Given the description of an element on the screen output the (x, y) to click on. 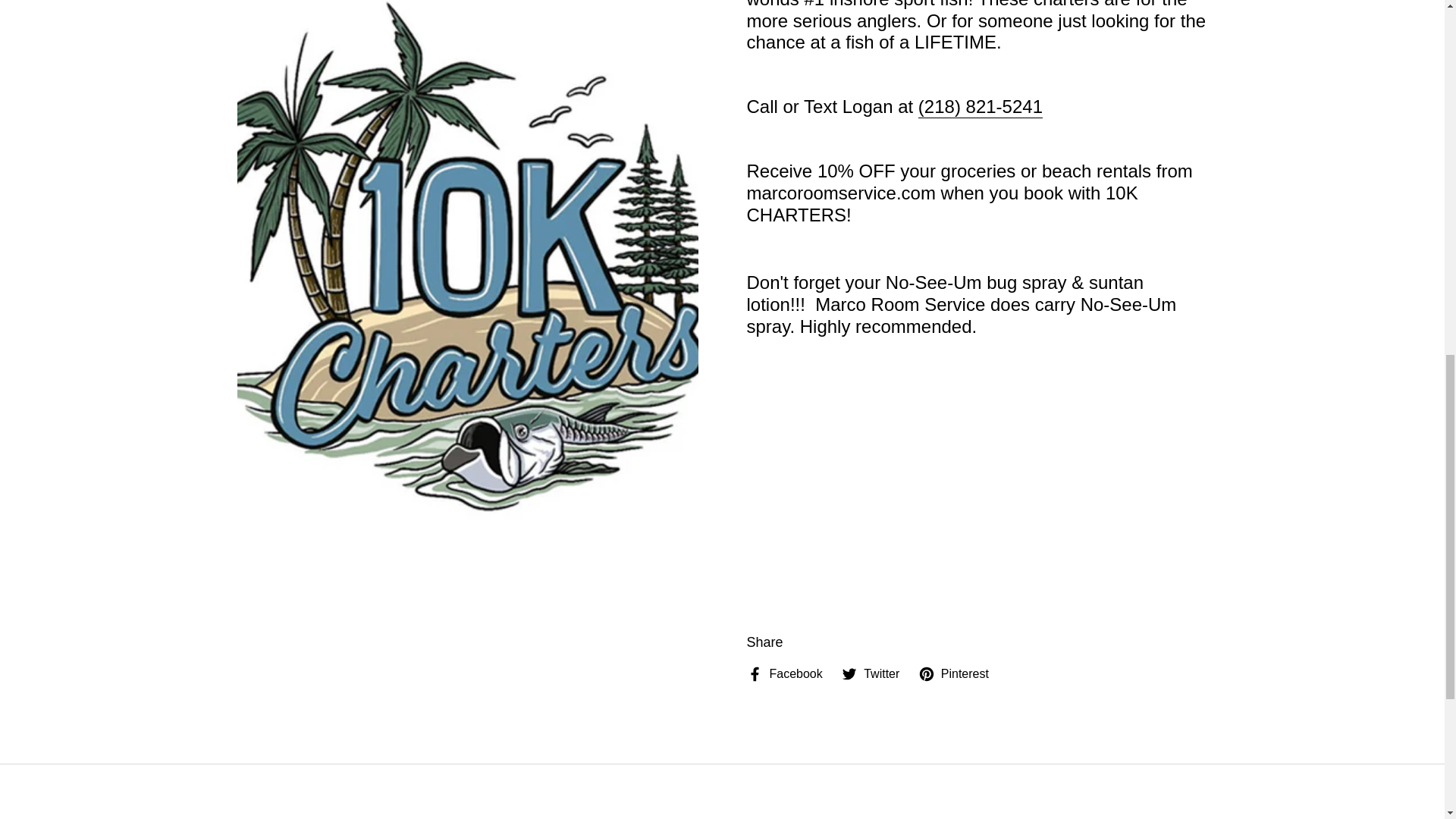
Share on twitter (870, 674)
Share on pinterest (953, 674)
Share on facebook (783, 674)
